Given the description of an element on the screen output the (x, y) to click on. 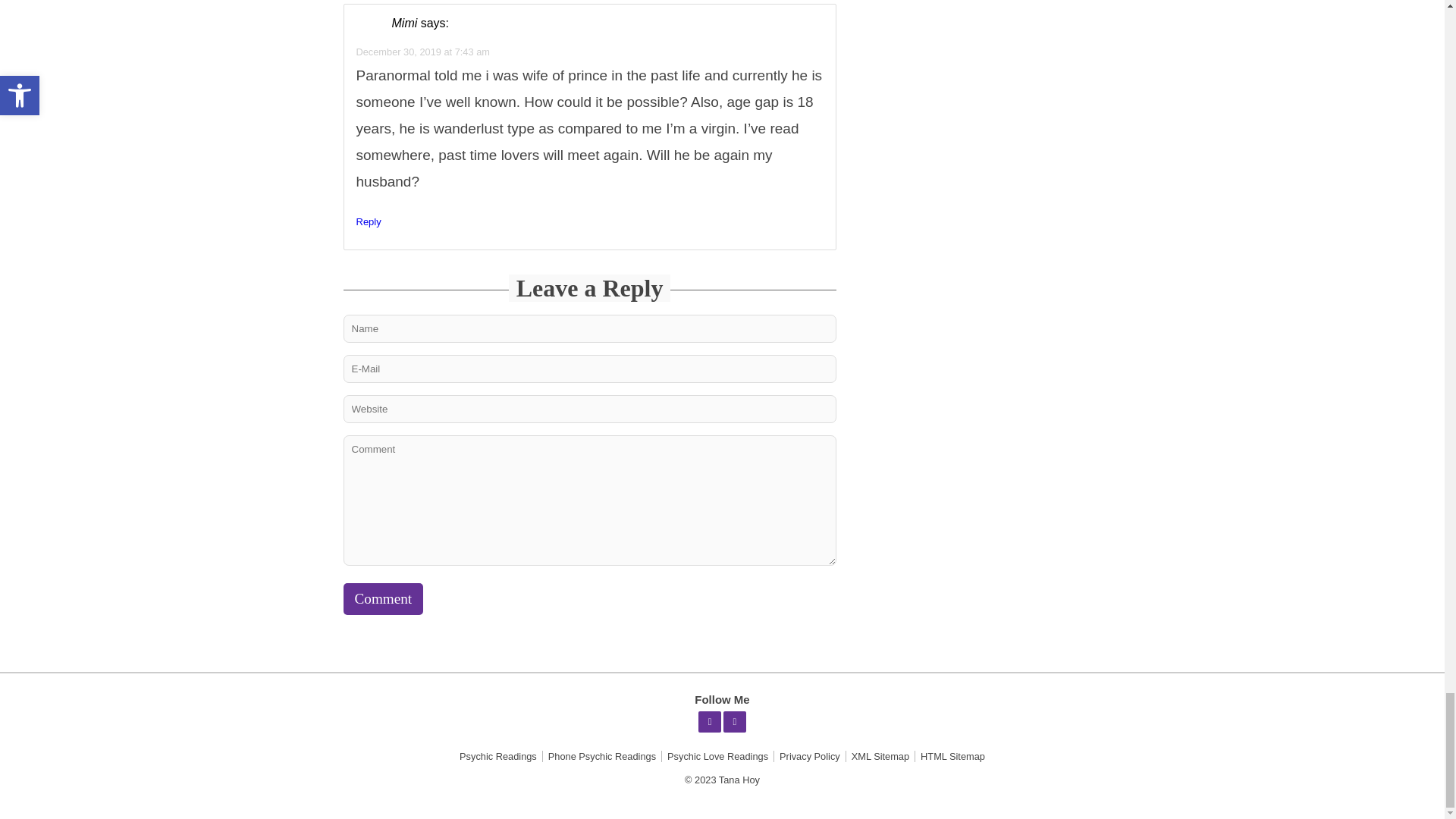
Comment (382, 599)
XML Sitemap (879, 756)
Comment (382, 599)
HTML Sitemap (952, 756)
Reply (368, 221)
December 30, 2019 at 7:43 am (422, 50)
Privacy Policy (809, 756)
Phone Psychic Readings (602, 756)
Psychic Love Readings (717, 756)
Psychic Readings (497, 756)
